Given the description of an element on the screen output the (x, y) to click on. 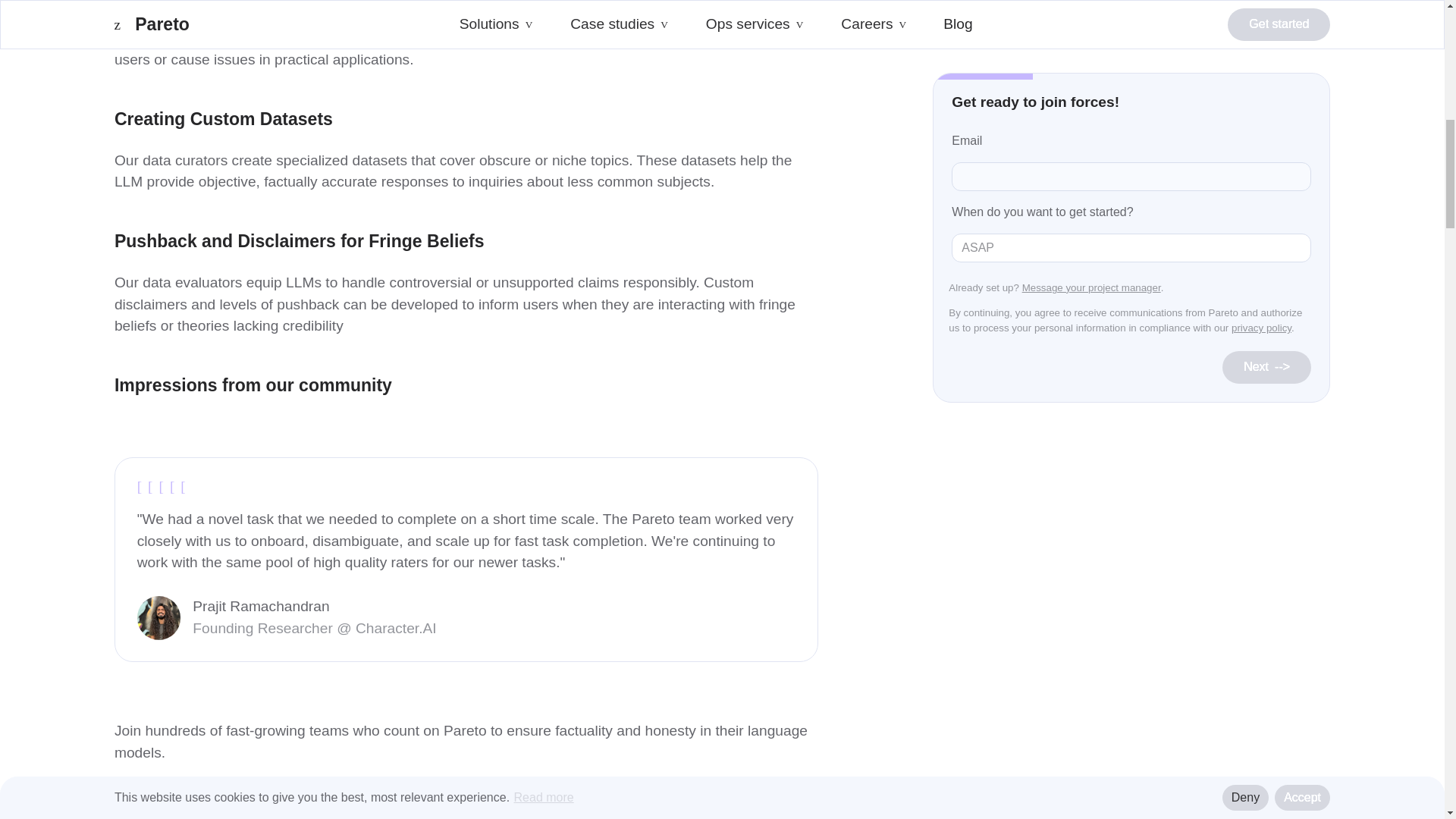
privacy policy (1261, 2)
Next (1267, 39)
